Given the description of an element on the screen output the (x, y) to click on. 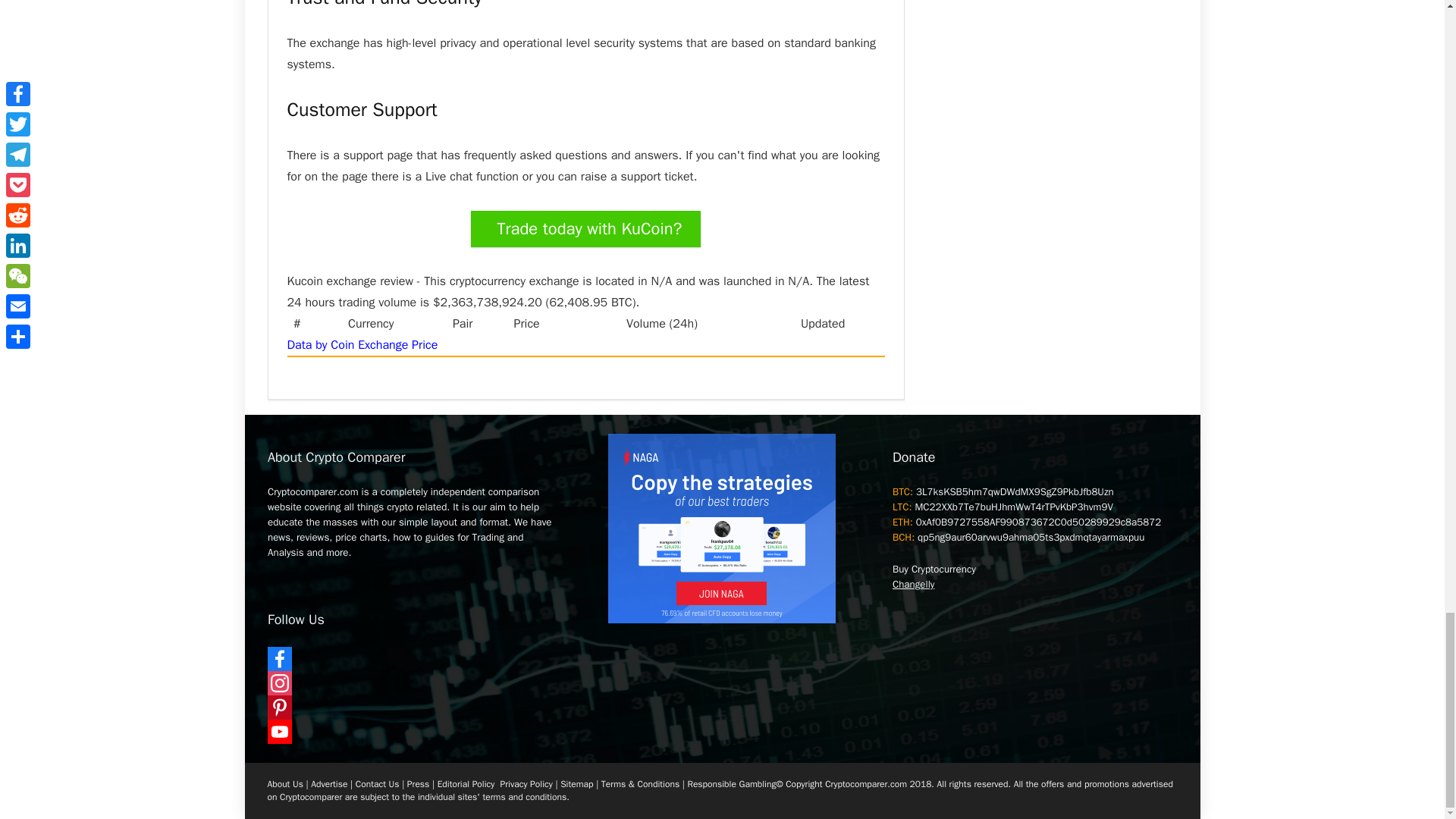
Instagram (409, 682)
Pinterest (409, 707)
YouTube Channel (409, 731)
Facebook (409, 658)
